Given the description of an element on the screen output the (x, y) to click on. 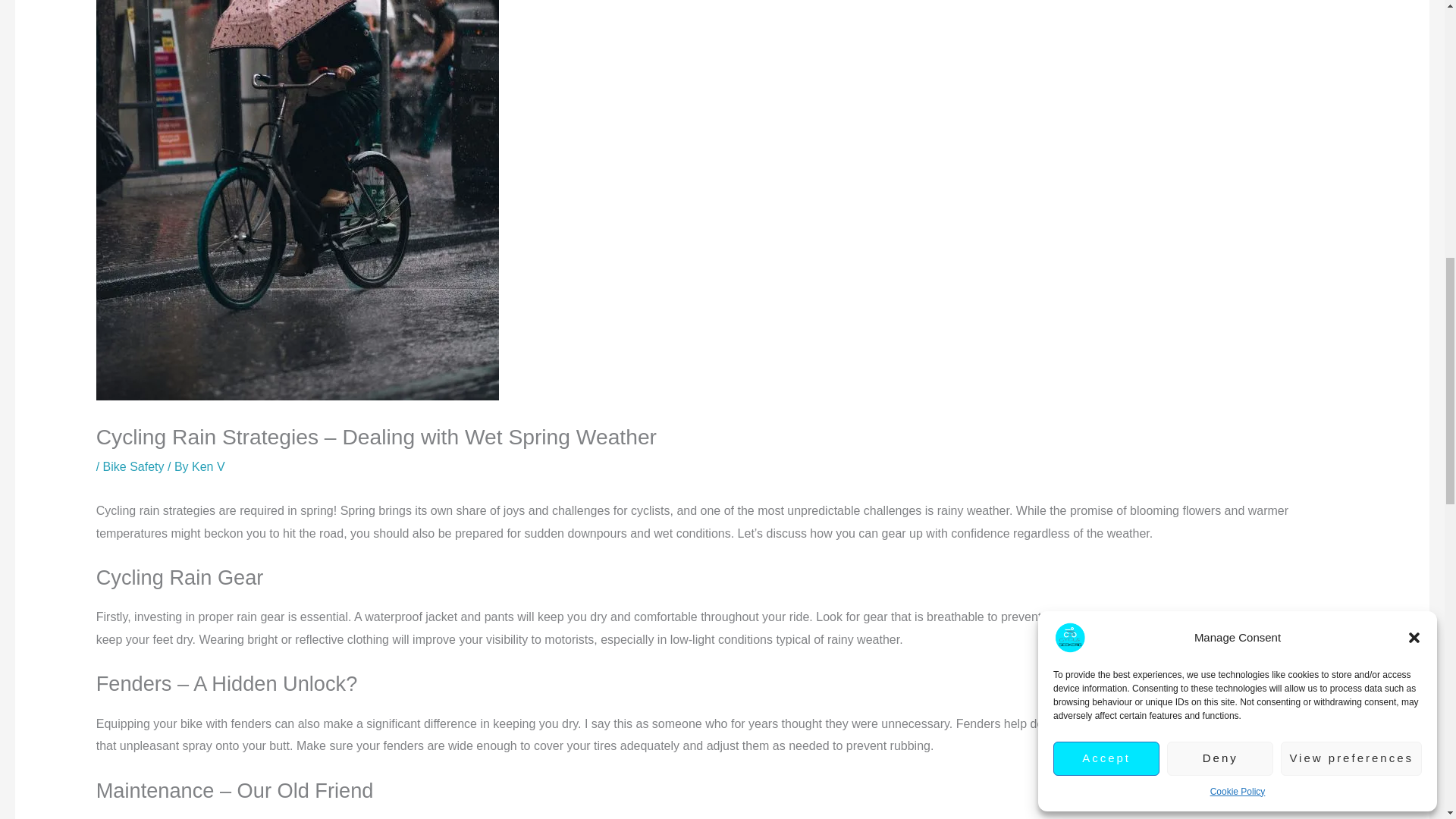
View all posts by Ken V (208, 466)
Ken V (208, 466)
Bike Safety (133, 466)
